Given the description of an element on the screen output the (x, y) to click on. 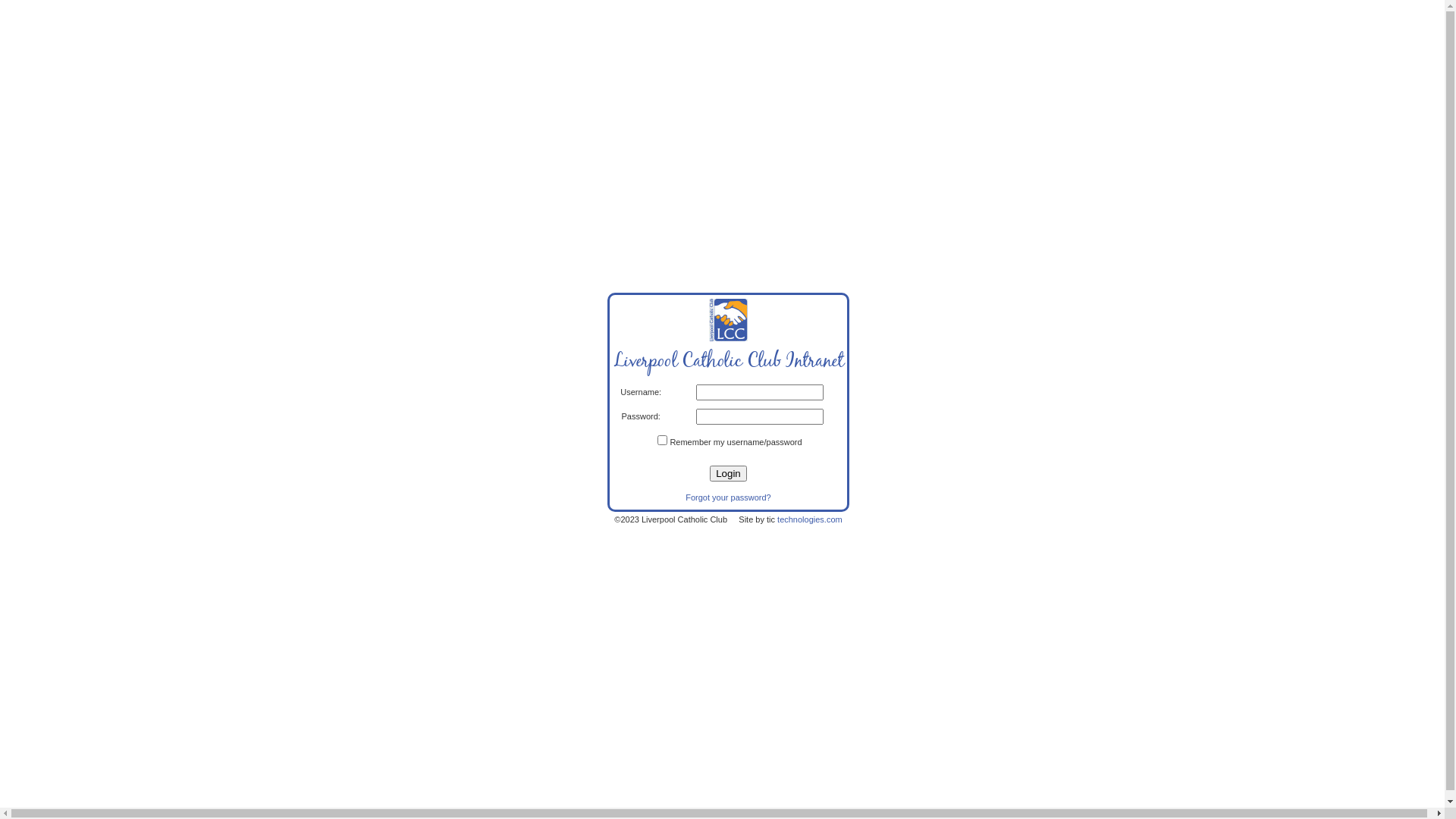
technologies.com Element type: text (809, 518)
Login Element type: text (727, 473)
Forgot your password? Element type: text (728, 497)
